Given the description of an element on the screen output the (x, y) to click on. 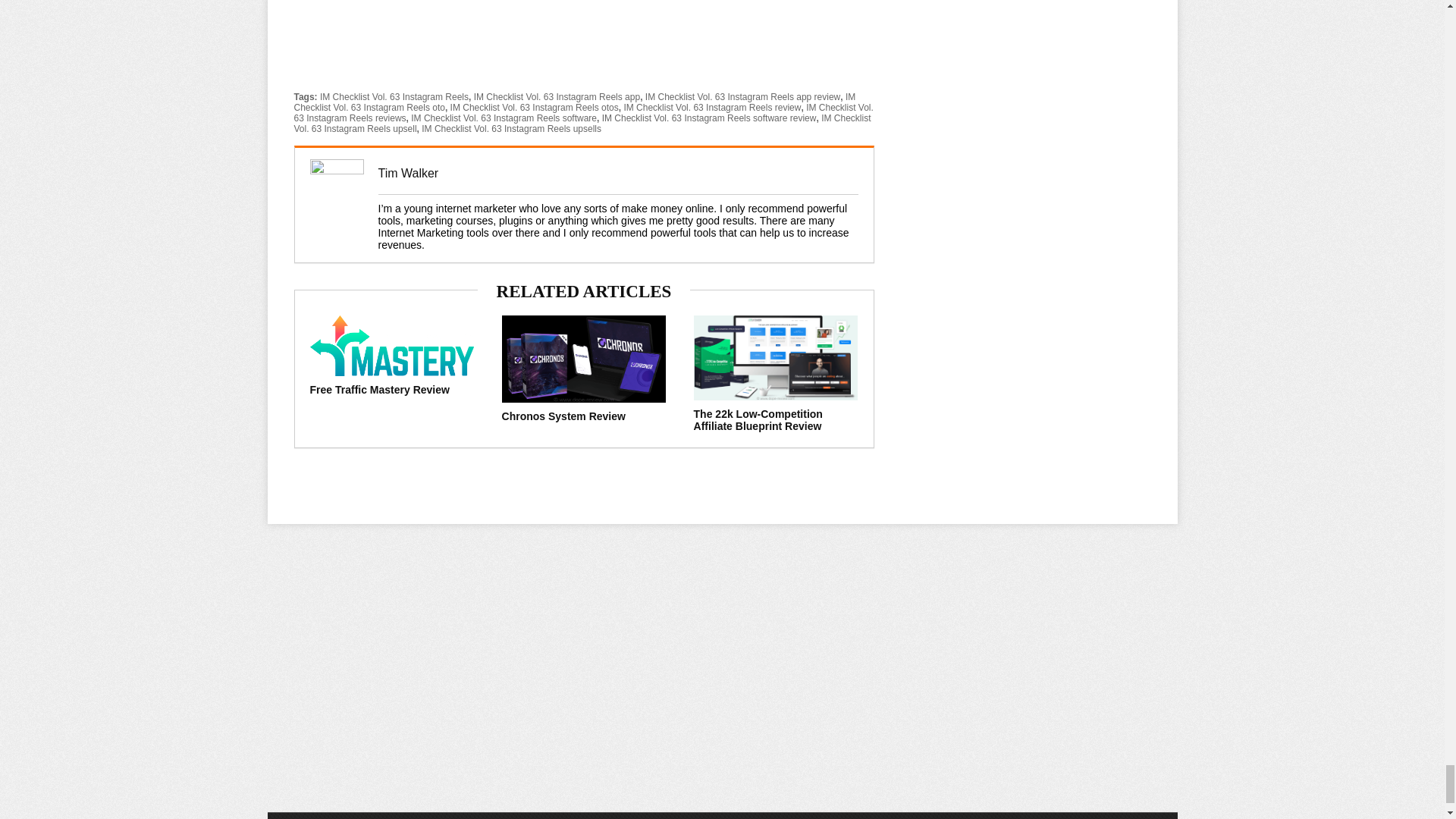
The 22k Low-Competition Affiliate Blueprint Review (758, 419)
Chronos System Review (564, 416)
Free Traffic Mastery Review (378, 389)
Posts by Tim Walker (407, 173)
